Given the description of an element on the screen output the (x, y) to click on. 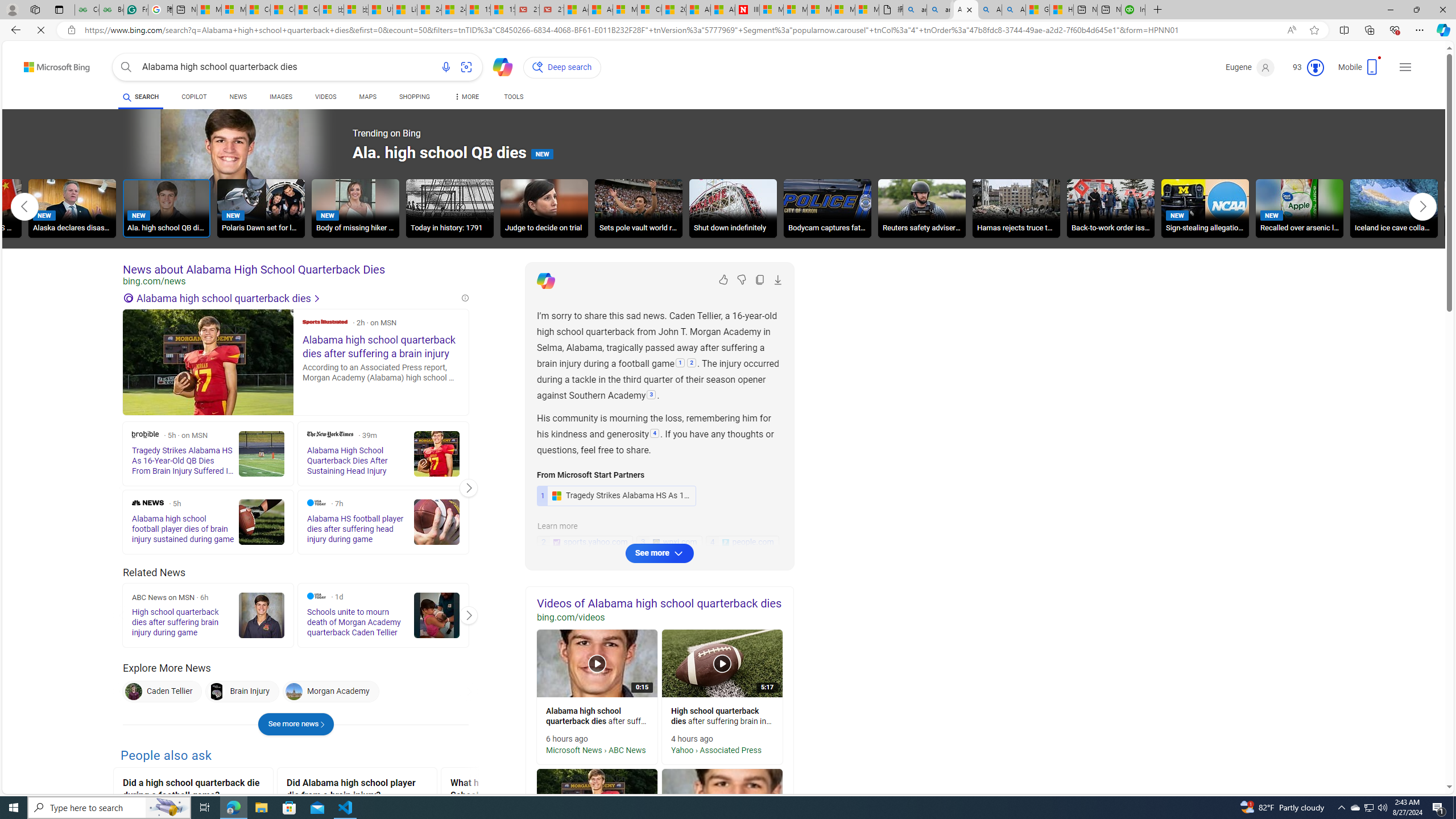
Did Alabama high school player die from a brain injury? (357, 791)
How to Use a TV as a Computer Monitor (1034, 9)
4:  (655, 434)
21 Movies That Outdid the Books They Were Based On (551, 9)
Morgan Academy (293, 691)
Brain Injury Brain Injury (241, 691)
Lifestyle - MSN (404, 9)
